Given the description of an element on the screen output the (x, y) to click on. 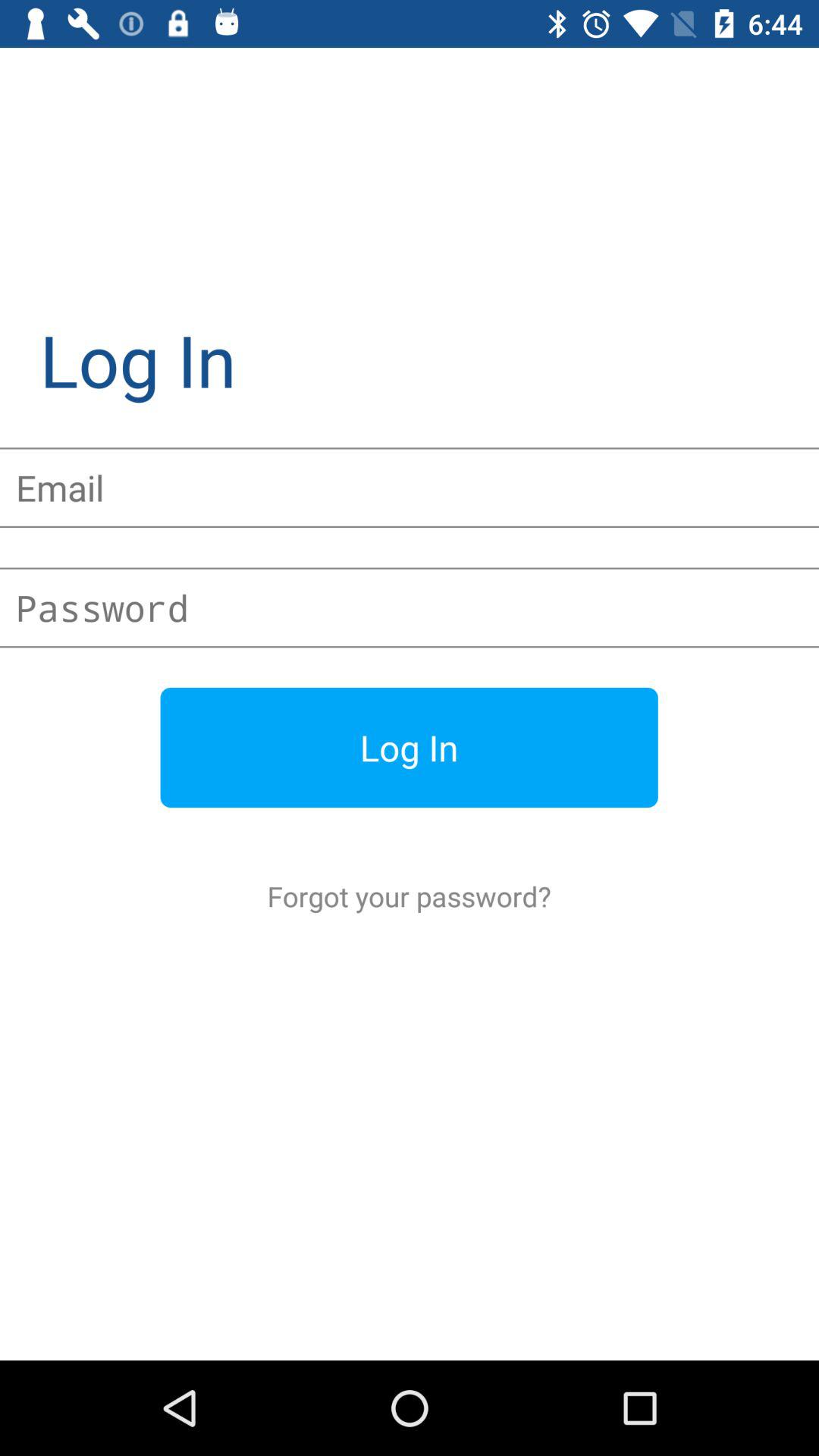
tap forgot your password? button (409, 896)
